Given the description of an element on the screen output the (x, y) to click on. 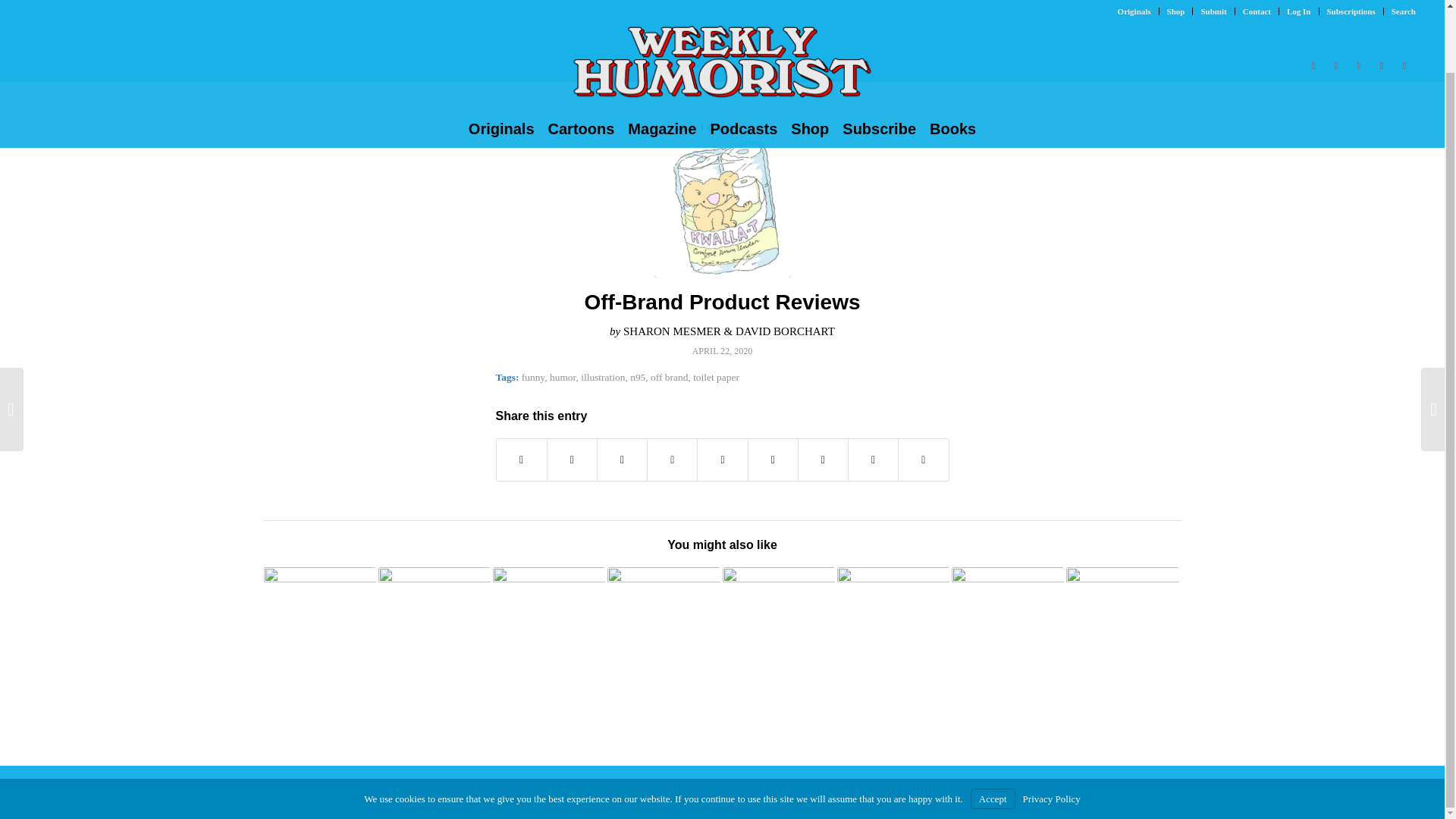
Off-Brand Product Reviews (721, 301)
Linkedin (1404, 4)
Instagram (1381, 4)
Youtube (1359, 4)
Facebook (1336, 4)
Shop (809, 60)
Originals (501, 60)
Books (952, 60)
Podcasts (743, 60)
Off-Brand Product Reviews (721, 208)
